Given the description of an element on the screen output the (x, y) to click on. 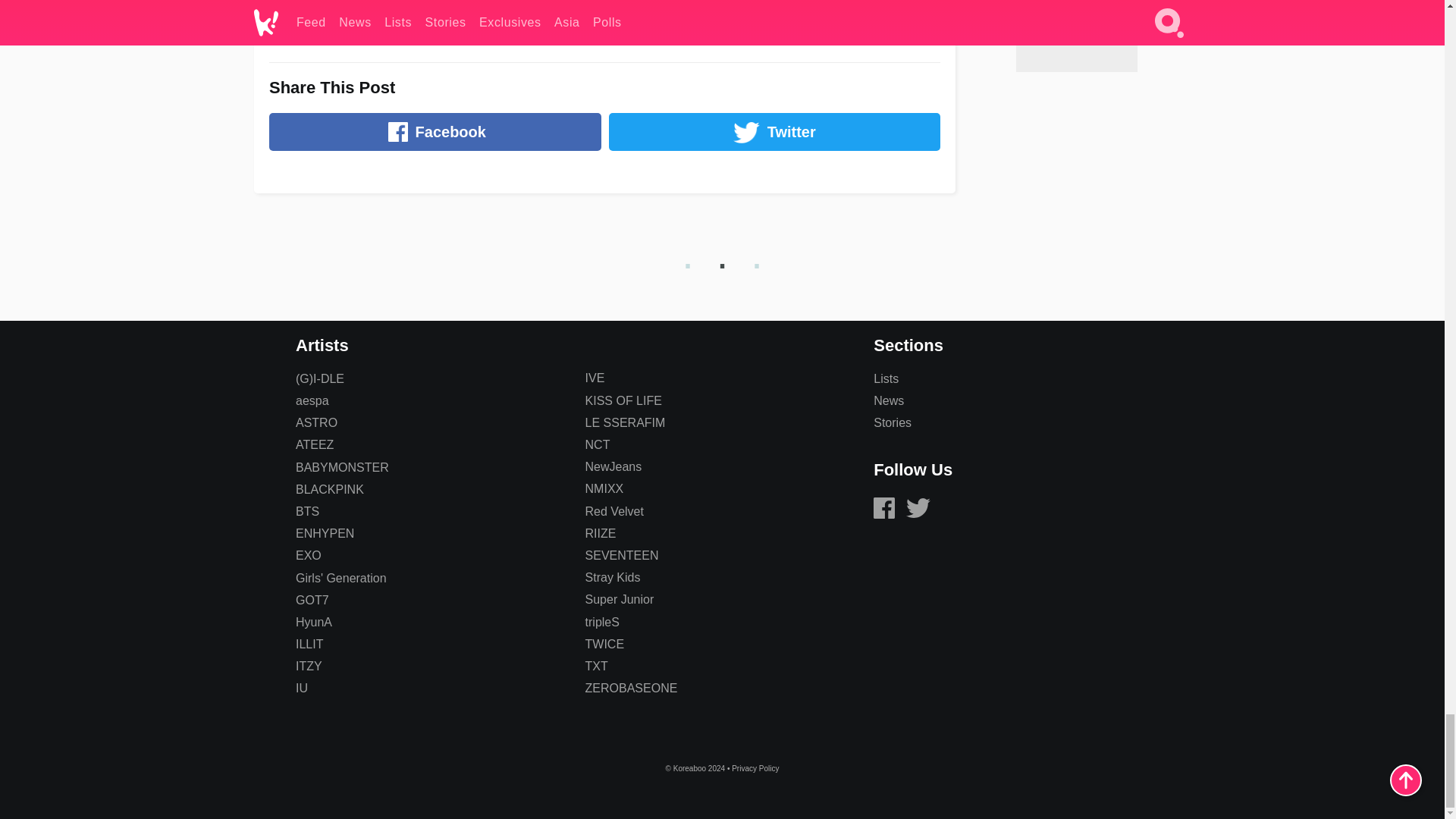
ILLIT (309, 644)
ITZY (308, 666)
KISS OF LIFE (623, 400)
RIIZE (600, 533)
LE SSERAFIM (625, 422)
SEVENTEEN (622, 554)
GOT7 (312, 599)
BABYMONSTER (341, 467)
NMIXX (604, 488)
Stray Kids (612, 576)
ASTRO (316, 422)
Red Velvet (614, 511)
BLACKPINK (329, 489)
BTS (306, 511)
aespa (312, 400)
